Given the description of an element on the screen output the (x, y) to click on. 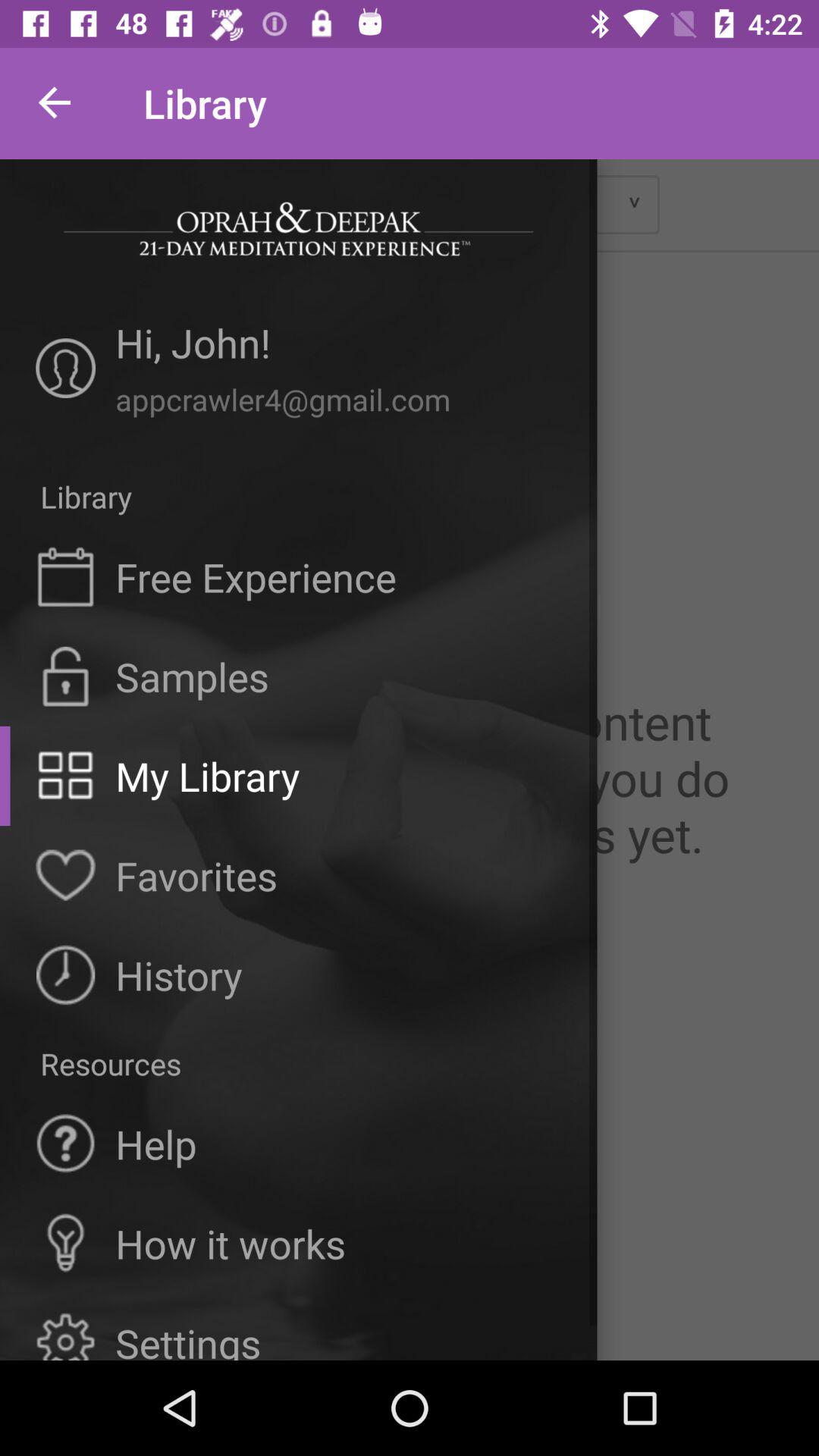
jump to the help icon (155, 1143)
